Given the description of an element on the screen output the (x, y) to click on. 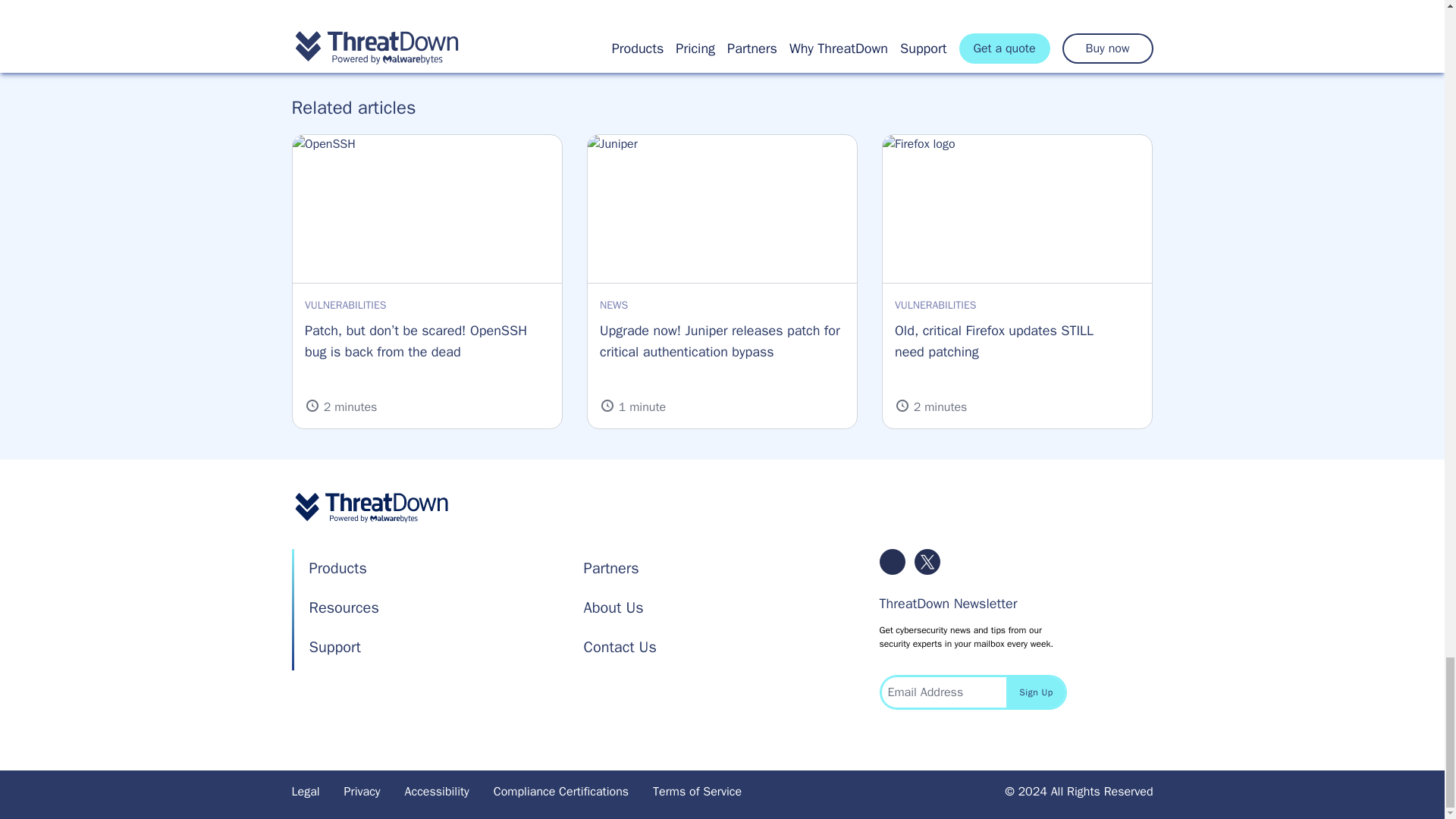
Sign Up (1036, 692)
